Given the description of an element on the screen output the (x, y) to click on. 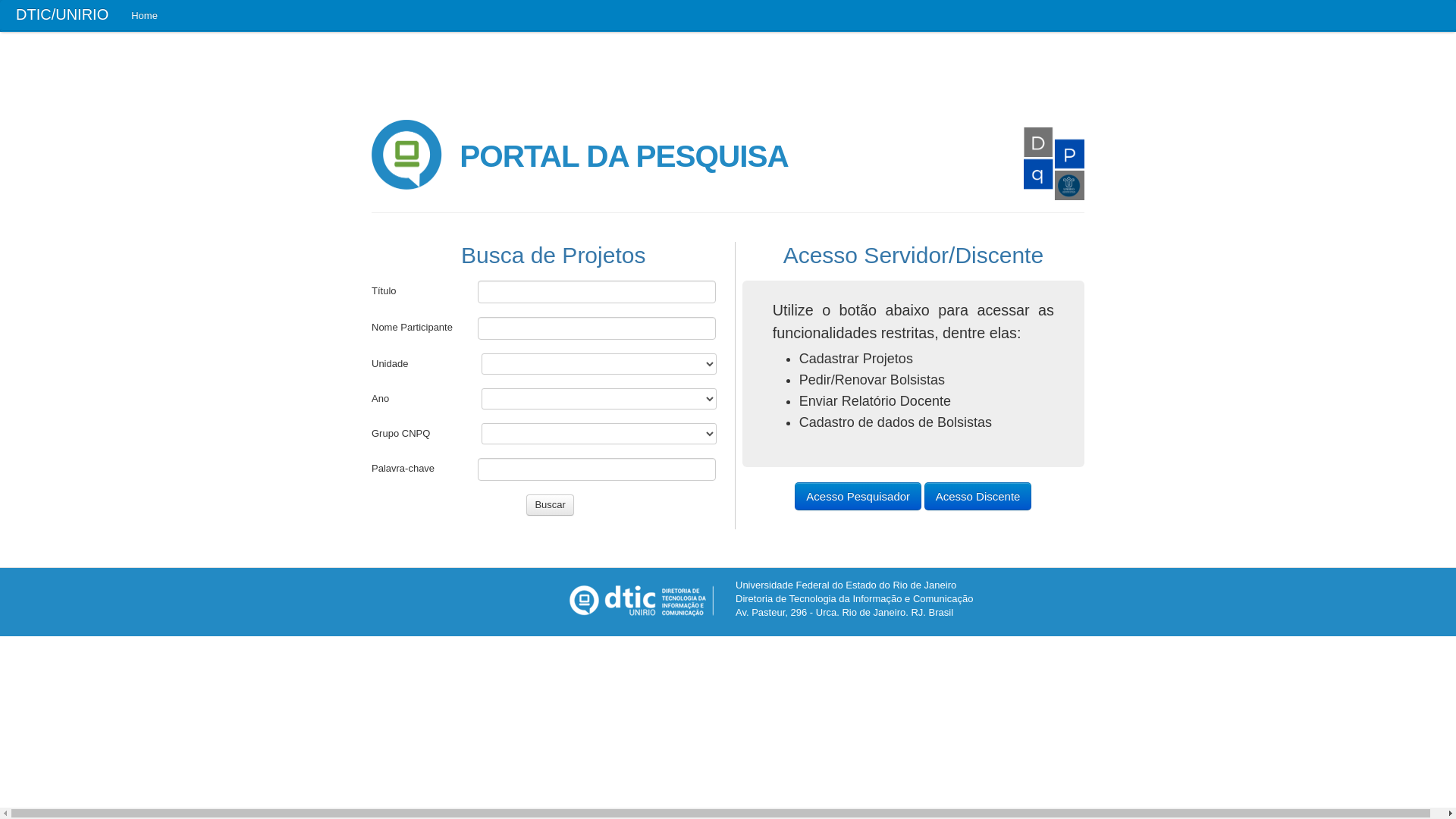
Acesso Discente Element type: text (978, 496)
DTIC/UNIRIO Element type: text (61, 15)
Acesso Pesquisador Element type: text (857, 496)
Buscar Element type: text (549, 504)
Home Element type: text (144, 15)
